Given the description of an element on the screen output the (x, y) to click on. 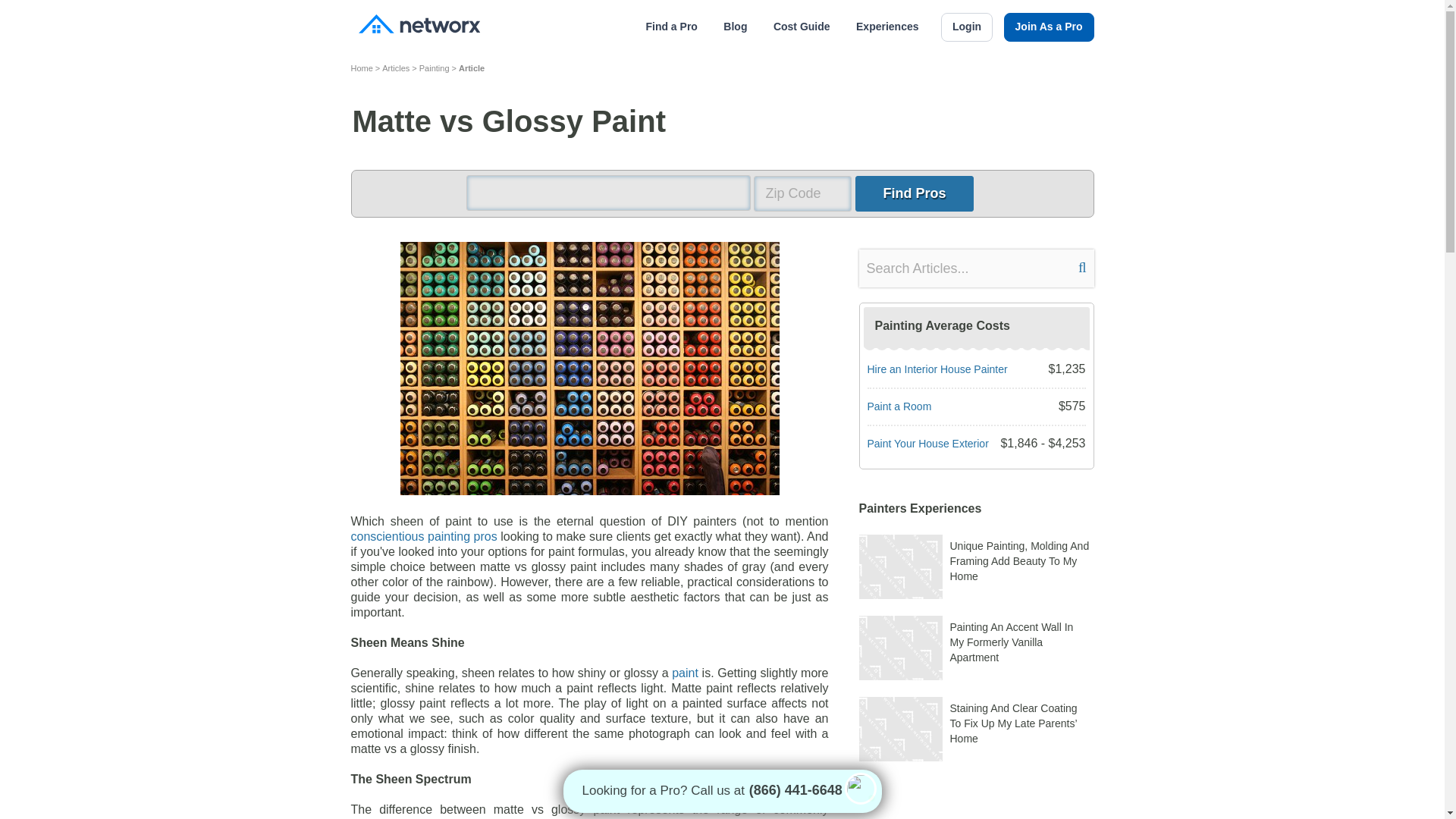
Find a Pro (670, 26)
Cost Guide (801, 26)
Join As a Pro (1049, 27)
Painting (434, 67)
Home (361, 67)
Articles (395, 67)
Find Pros (914, 193)
Please enter a valid zip code (802, 193)
What type of pro are you looking for? (607, 192)
Login (966, 27)
Experiences (887, 26)
Networx (418, 25)
Find Pros (914, 193)
